Given the description of an element on the screen output the (x, y) to click on. 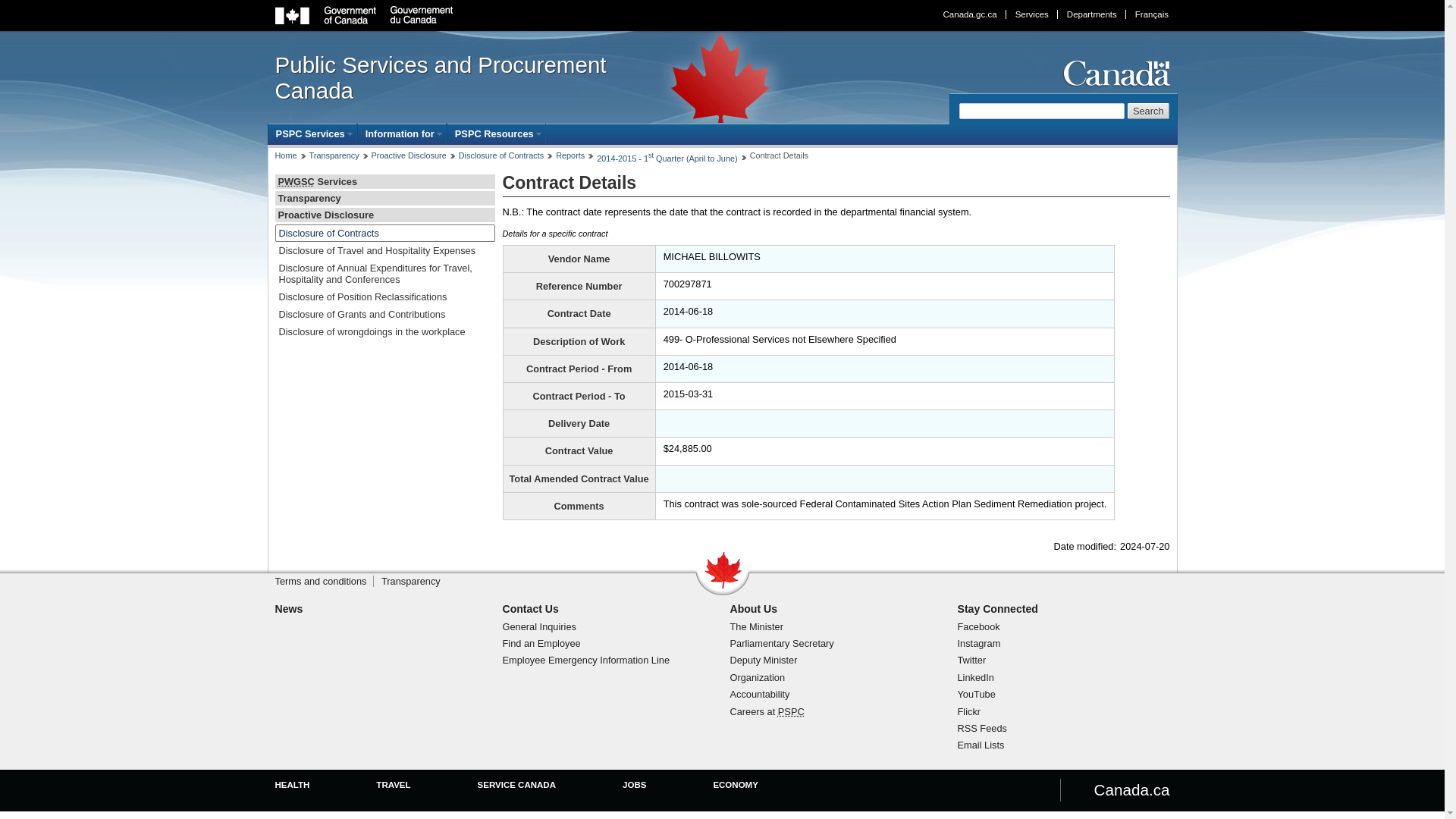
Services (1031, 13)
Government of Canada (364, 14)
Proactive Disclosure (408, 154)
Public Services and Procurement Canada (460, 78)
Symbol of the Government of Canada (1114, 72)
Search (1147, 110)
Transparency  (333, 154)
Skip to main content (726, 11)
Public Services and Procurement Canada (791, 711)
Departments (1091, 13)
Canada.gc.ca (970, 13)
Search (1147, 110)
Public Works and Government Services Canada (296, 181)
